Given the description of an element on the screen output the (x, y) to click on. 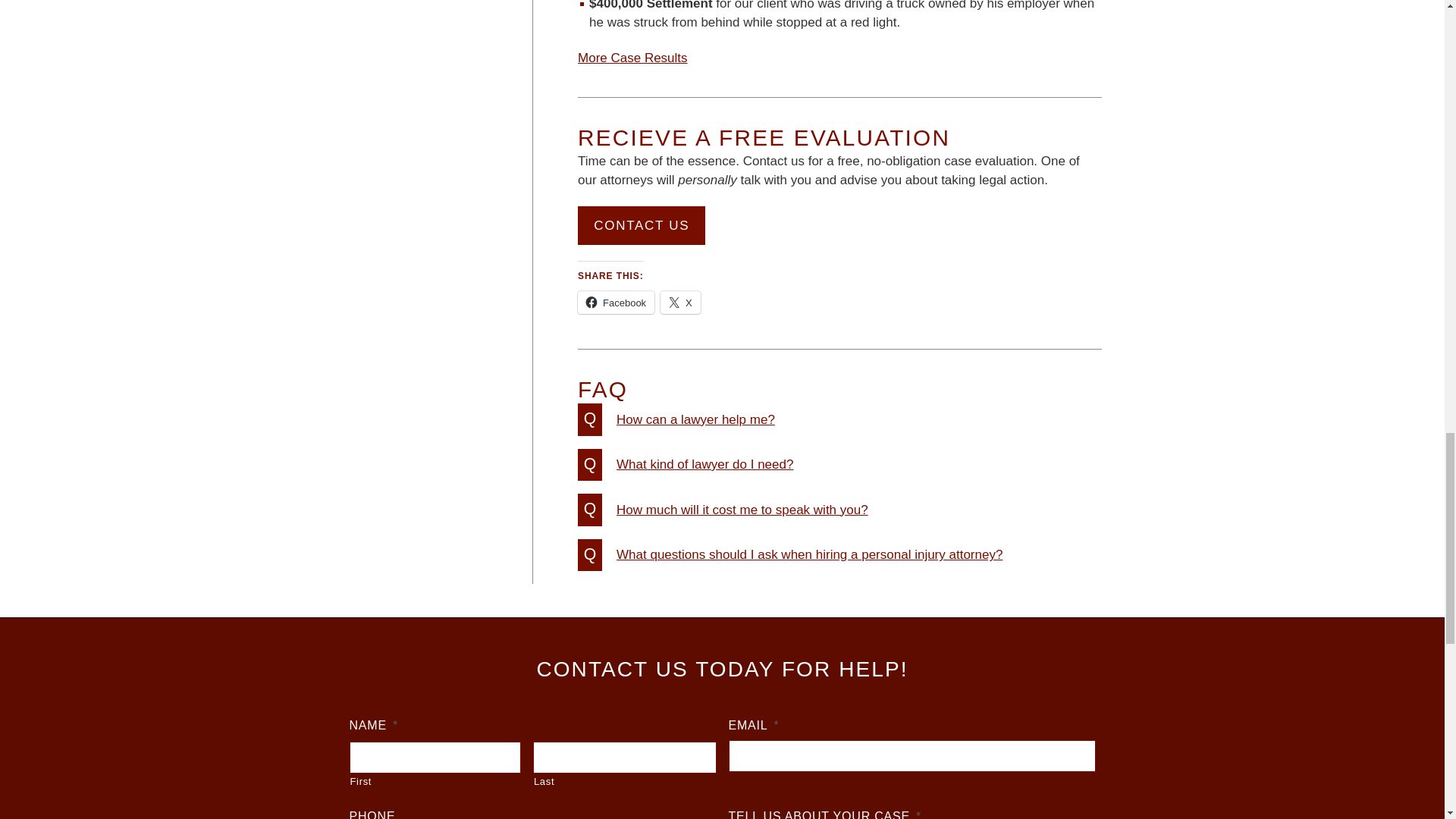
Click to share on X (680, 302)
Contact (641, 225)
Click to share on Facebook (615, 302)
